Given the description of an element on the screen output the (x, y) to click on. 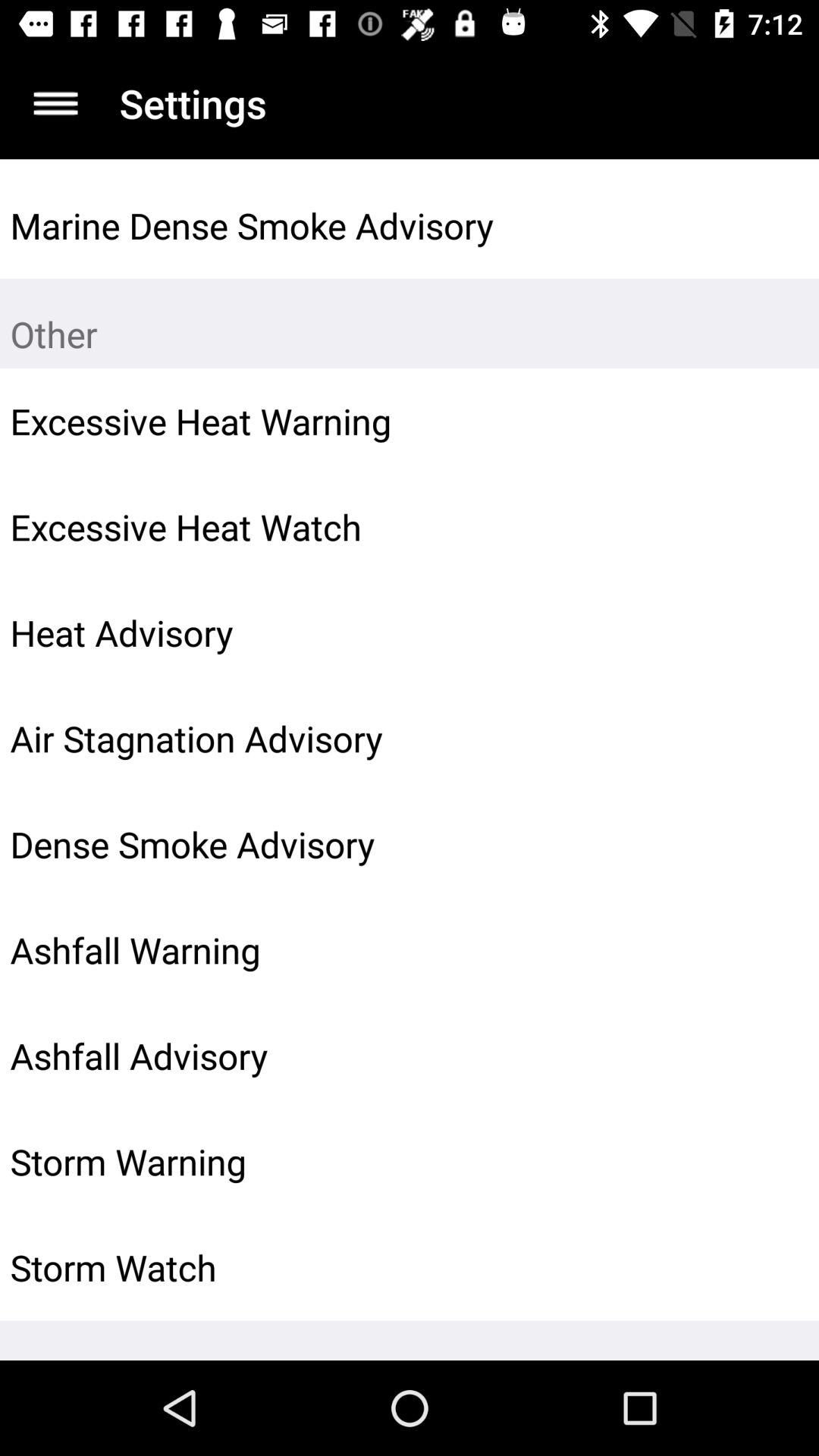
launch the icon to the right of ashfall warning item (771, 950)
